Given the description of an element on the screen output the (x, y) to click on. 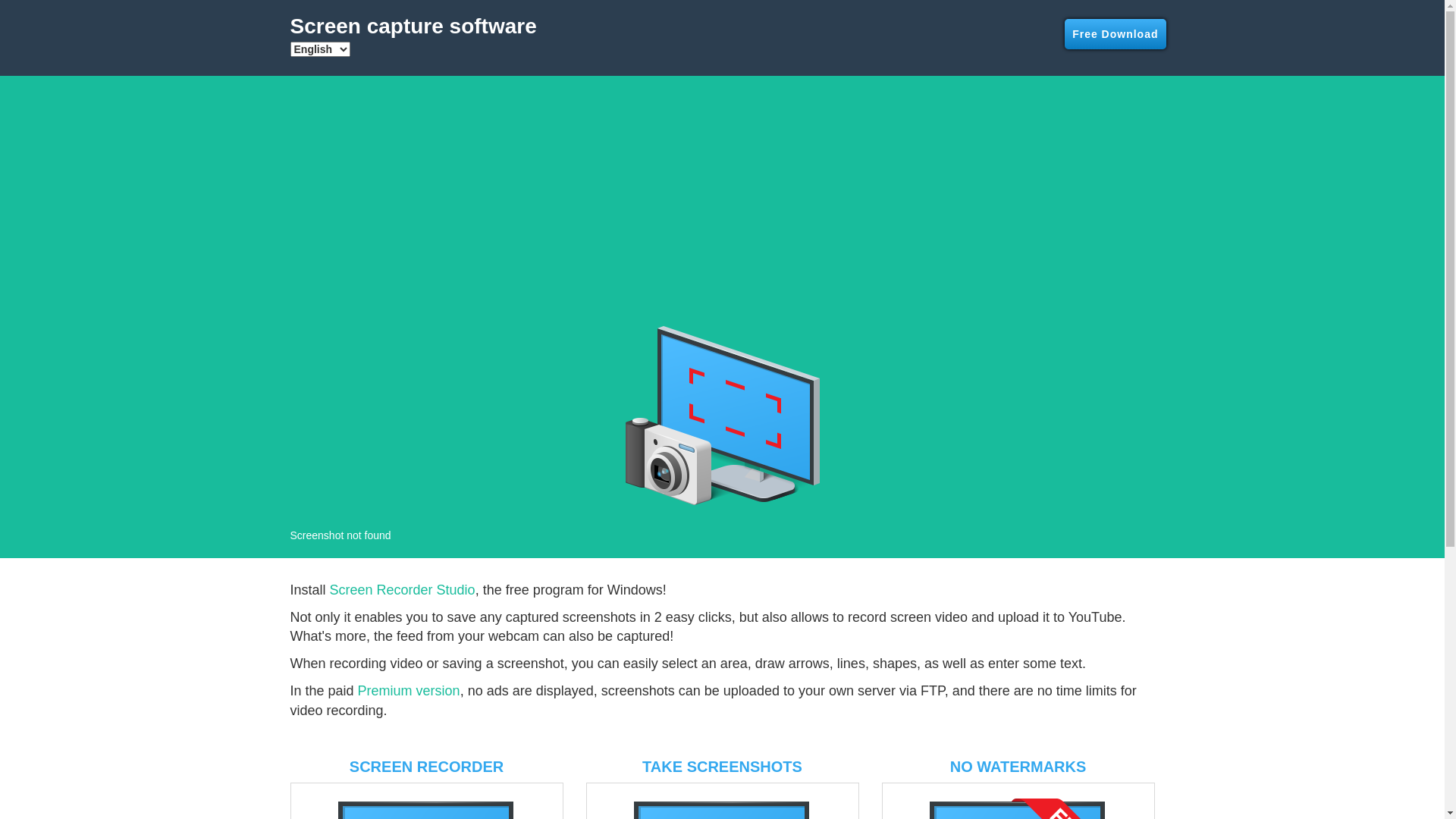
Screen capture software Element type: text (413, 29)
Premium version Element type: text (408, 690)
Advertisement Element type: hover (721, 197)
Screen Recorder Studio Element type: text (402, 589)
Free Download Element type: text (1114, 33)
Screenshot not found Element type: hover (721, 415)
